Given the description of an element on the screen output the (x, y) to click on. 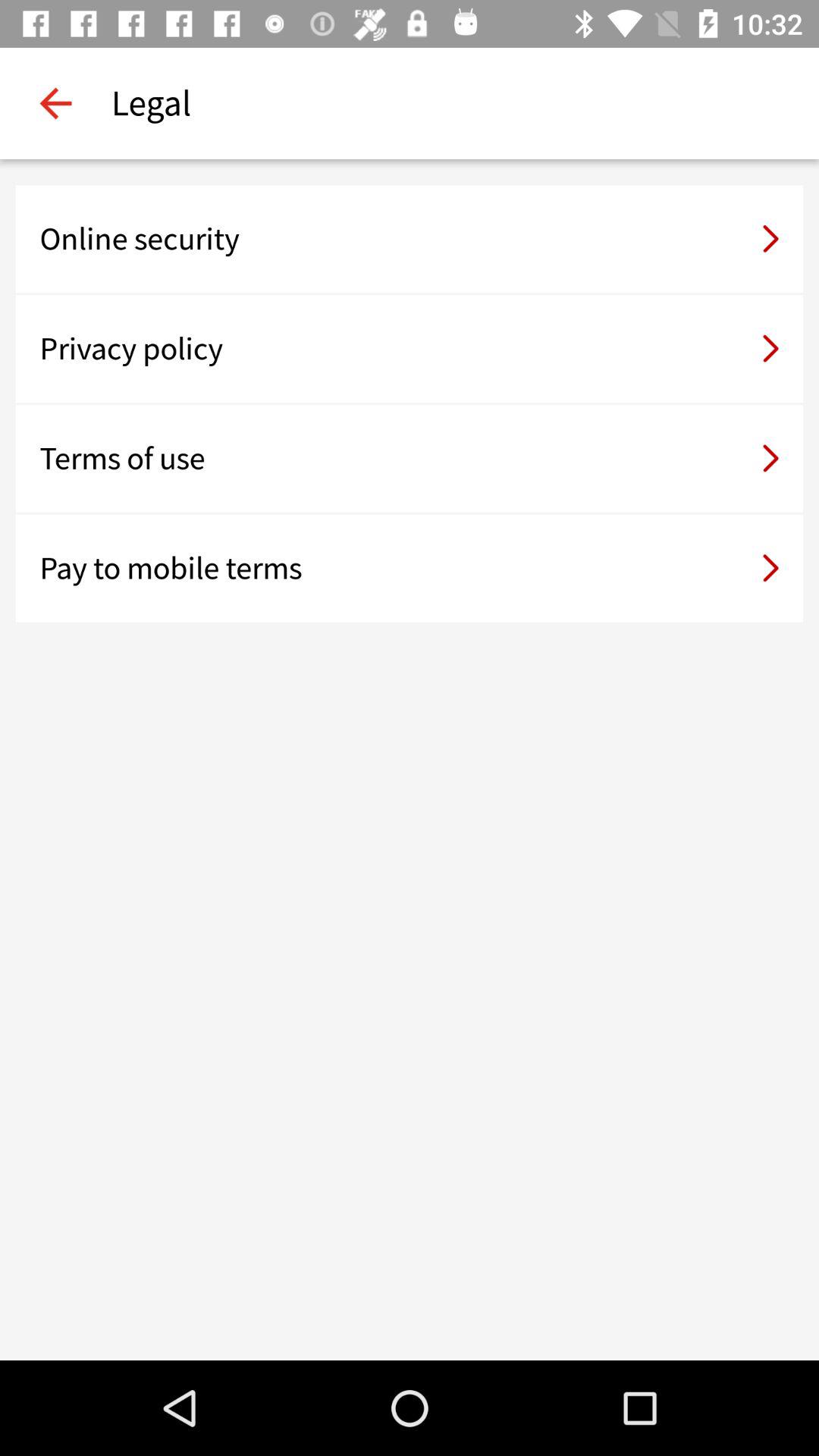
turn off the icon above the pay to mobile item (409, 458)
